Given the description of an element on the screen output the (x, y) to click on. 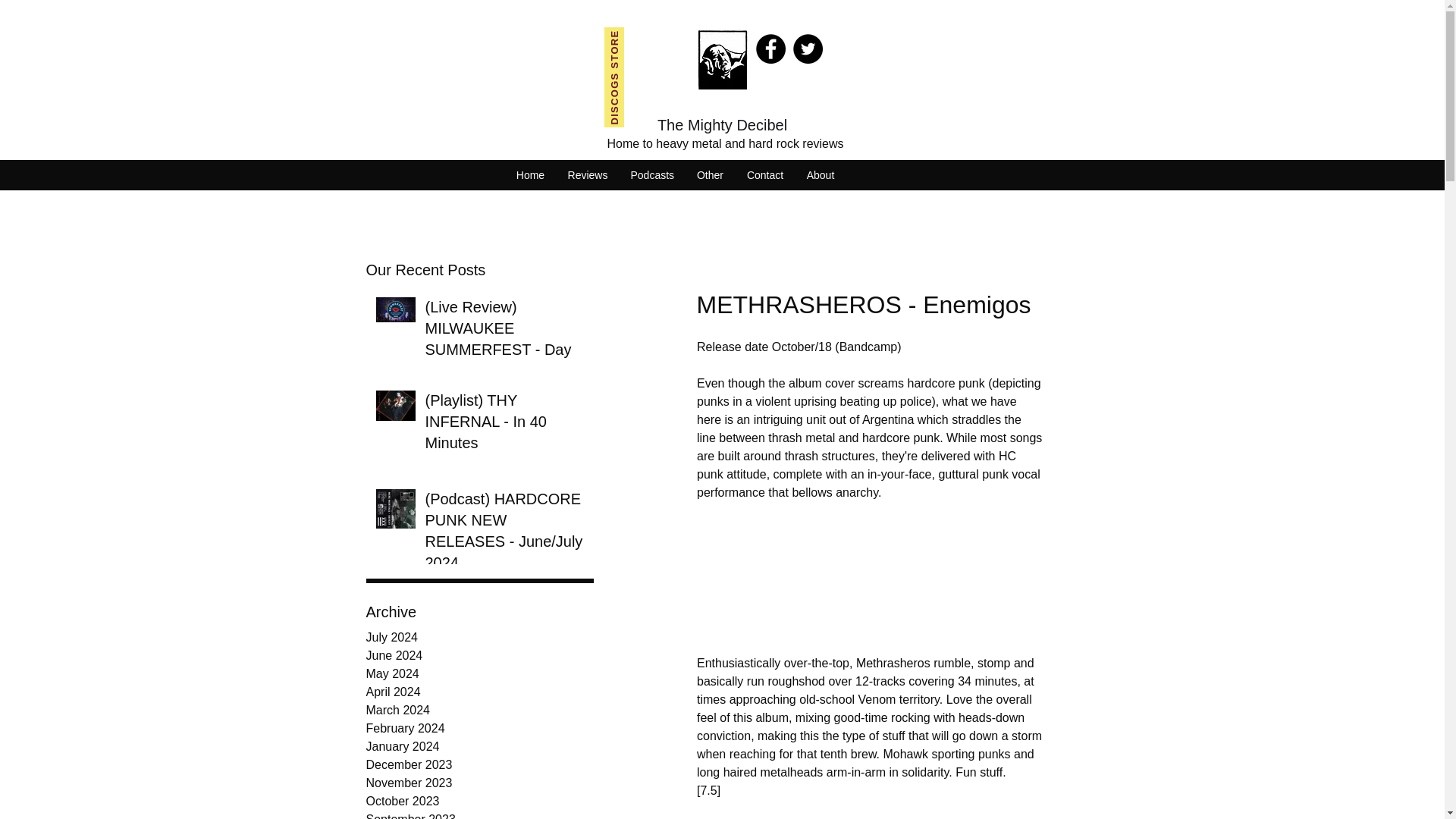
DISCOGS STORE (653, 36)
July 2024 (478, 637)
April 2024 (478, 692)
November 2023 (478, 782)
February 2024 (478, 728)
The Mighty Decibel (722, 125)
May 2024 (478, 674)
Reviews (588, 174)
December 2023 (478, 764)
Contact (764, 174)
March 2024 (478, 710)
June 2024 (478, 656)
October 2023 (478, 801)
January 2024 (478, 746)
Other (710, 174)
